Given the description of an element on the screen output the (x, y) to click on. 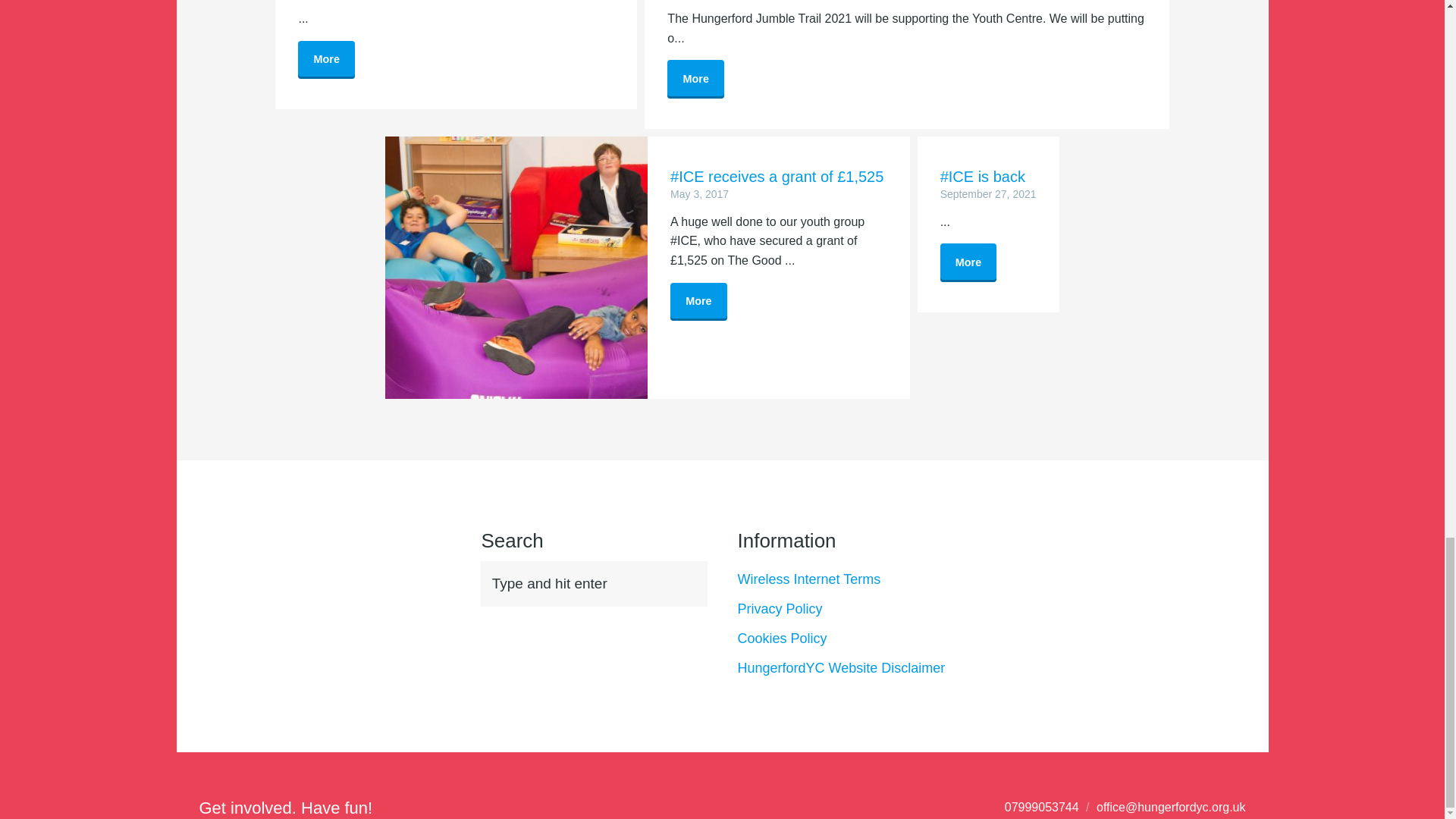
Hungerford Youth and Community Center AGM (326, 59)
Cookies Policy (781, 638)
Wireless Internet Terms (808, 579)
Privacy Policy (779, 608)
Hungerford Jumble Trail 2021 (694, 78)
More (326, 59)
HungerfordYC Website Disclaimer (840, 667)
More (697, 301)
More (968, 262)
More (694, 78)
